Given the description of an element on the screen output the (x, y) to click on. 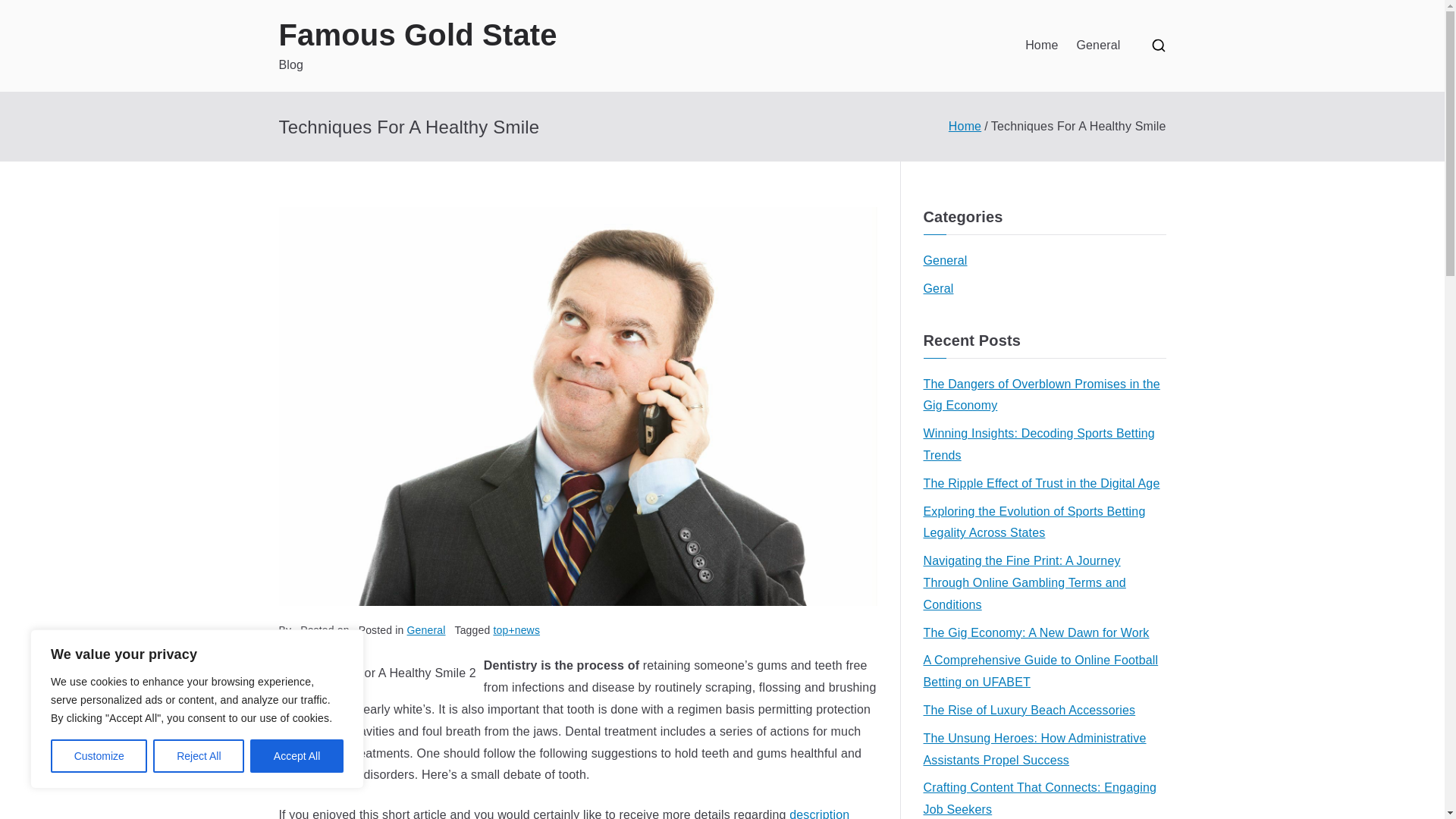
Home (1041, 45)
General (1097, 45)
Accept All (296, 756)
description here (564, 813)
General (945, 260)
Famous Gold State (418, 34)
Customize (98, 756)
General (426, 630)
Home (965, 125)
Geral (938, 289)
